Given the description of an element on the screen output the (x, y) to click on. 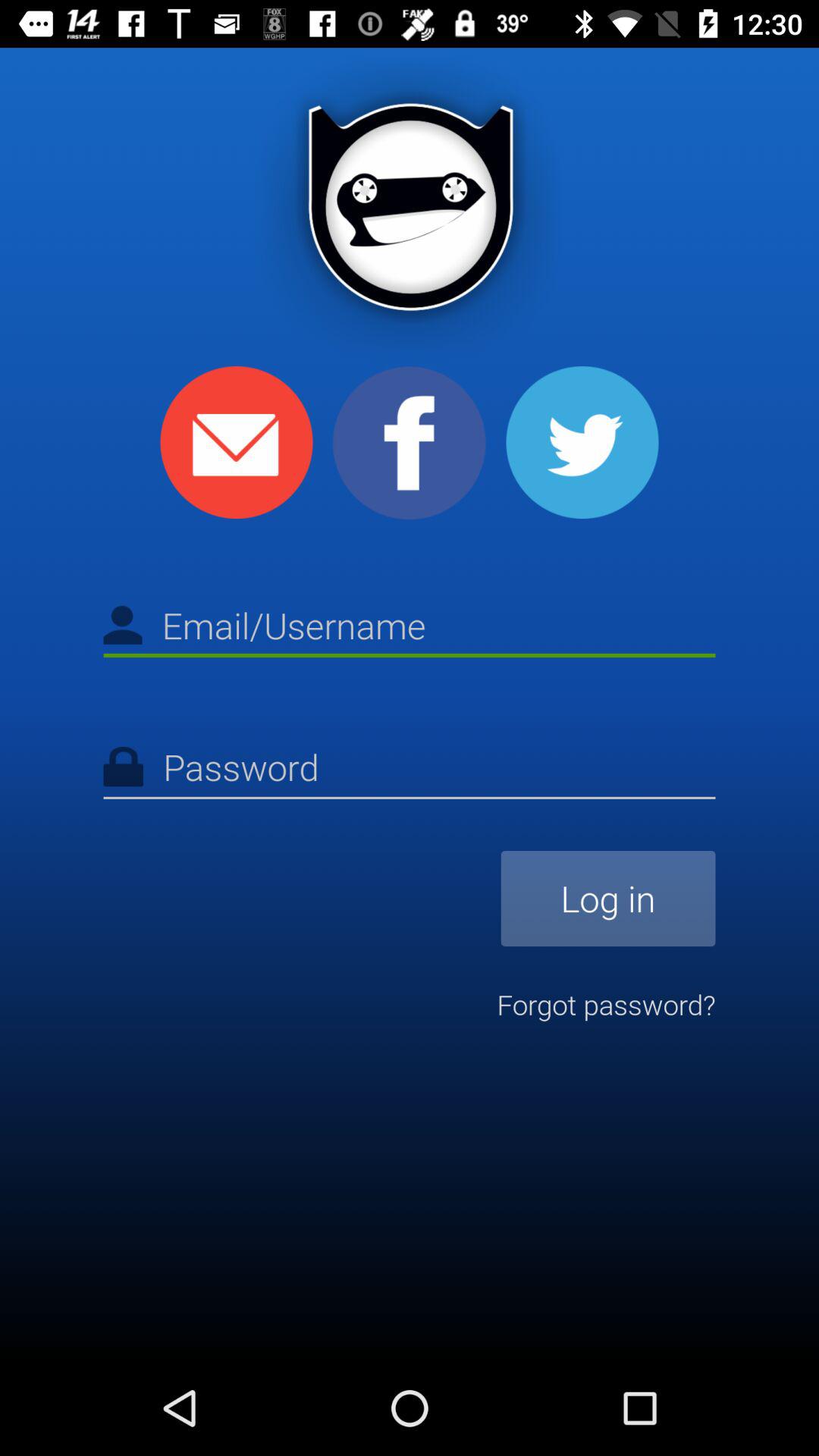
share to facebook (409, 442)
